Given the description of an element on the screen output the (x, y) to click on. 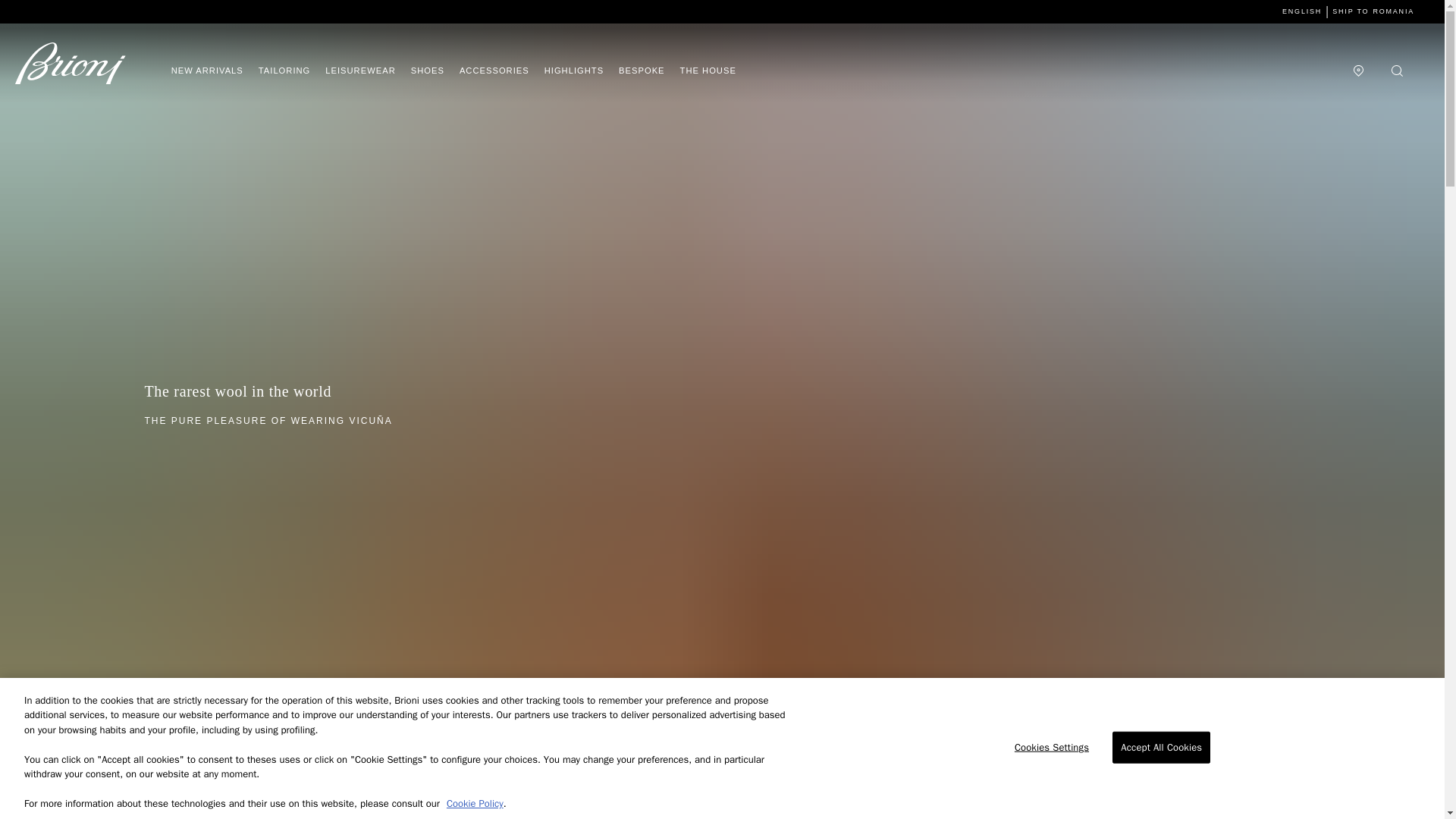
ROMANIA (1393, 11)
ENGLISH (1302, 11)
NEW ARRIVALS (207, 70)
THE HOUSE (707, 70)
